Given the description of an element on the screen output the (x, y) to click on. 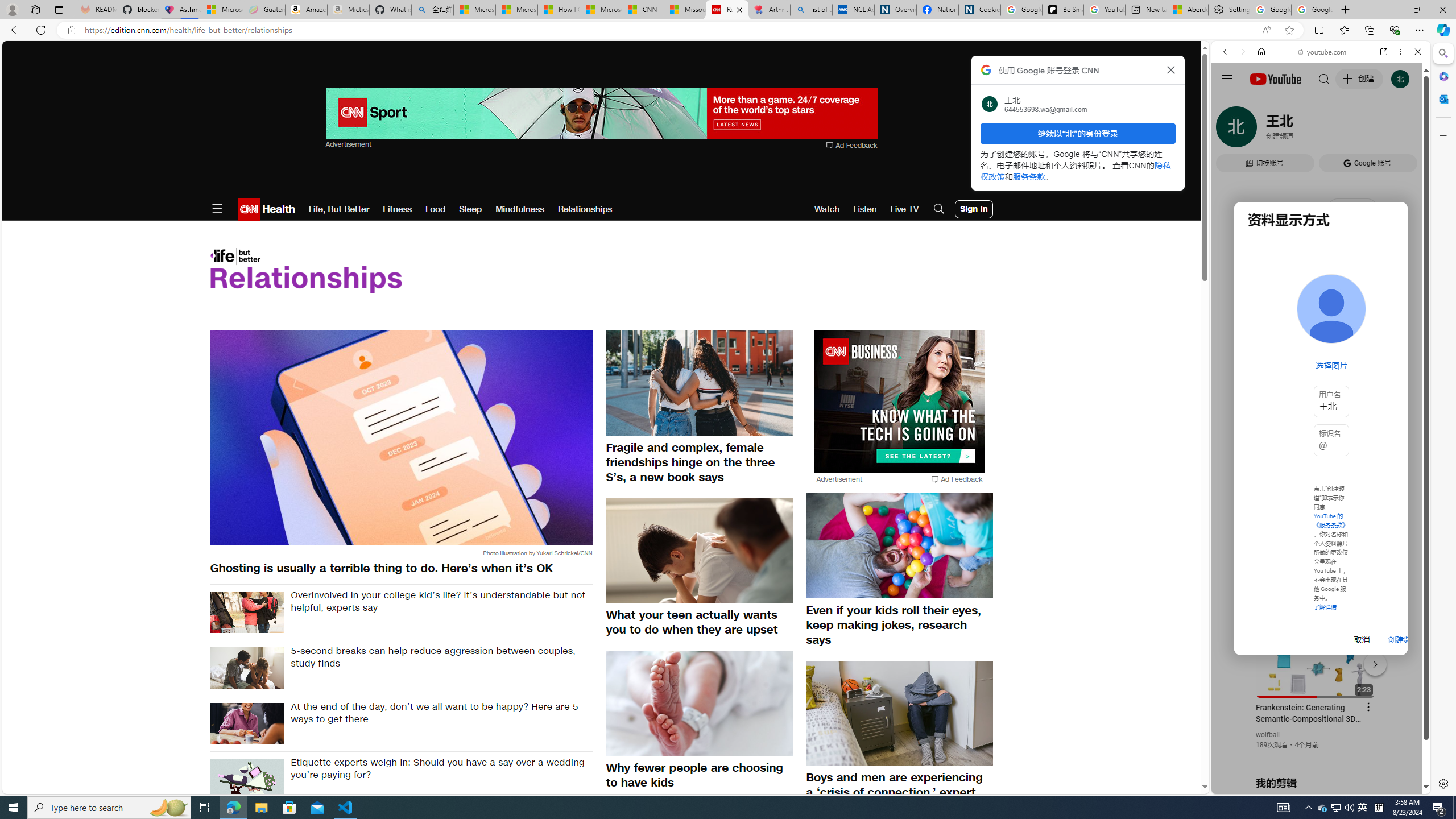
Live TV (903, 208)
Sleep (469, 209)
#you (1320, 253)
